Given the description of an element on the screen output the (x, y) to click on. 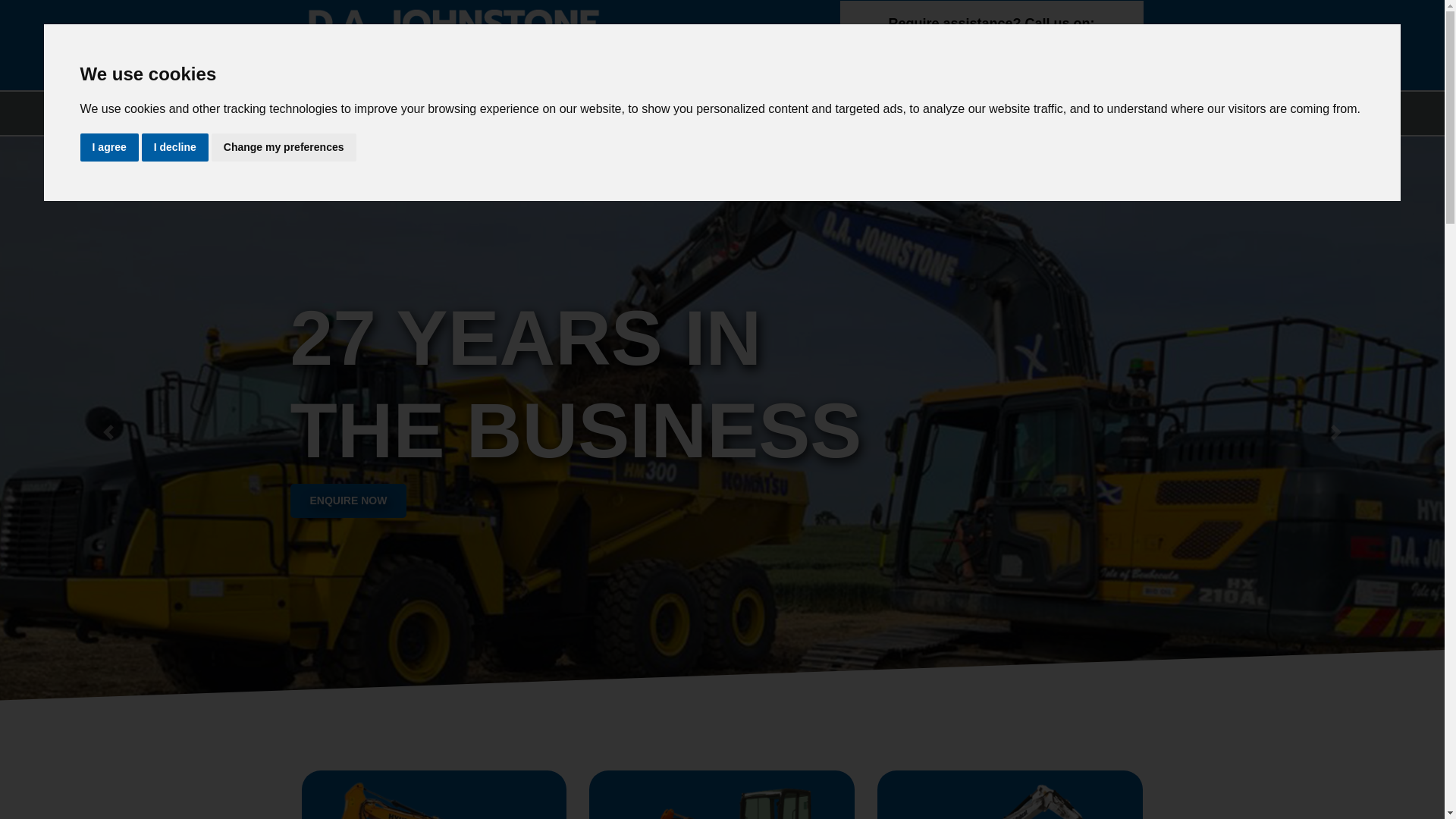
I agree (109, 147)
Home (332, 113)
Used Sales (577, 113)
ENQUIRE NOW (347, 500)
Contact Us (800, 113)
News (655, 113)
01670 812244 (991, 52)
Gallery (719, 113)
I decline (174, 147)
Change my preferences (283, 147)
